Given the description of an element on the screen output the (x, y) to click on. 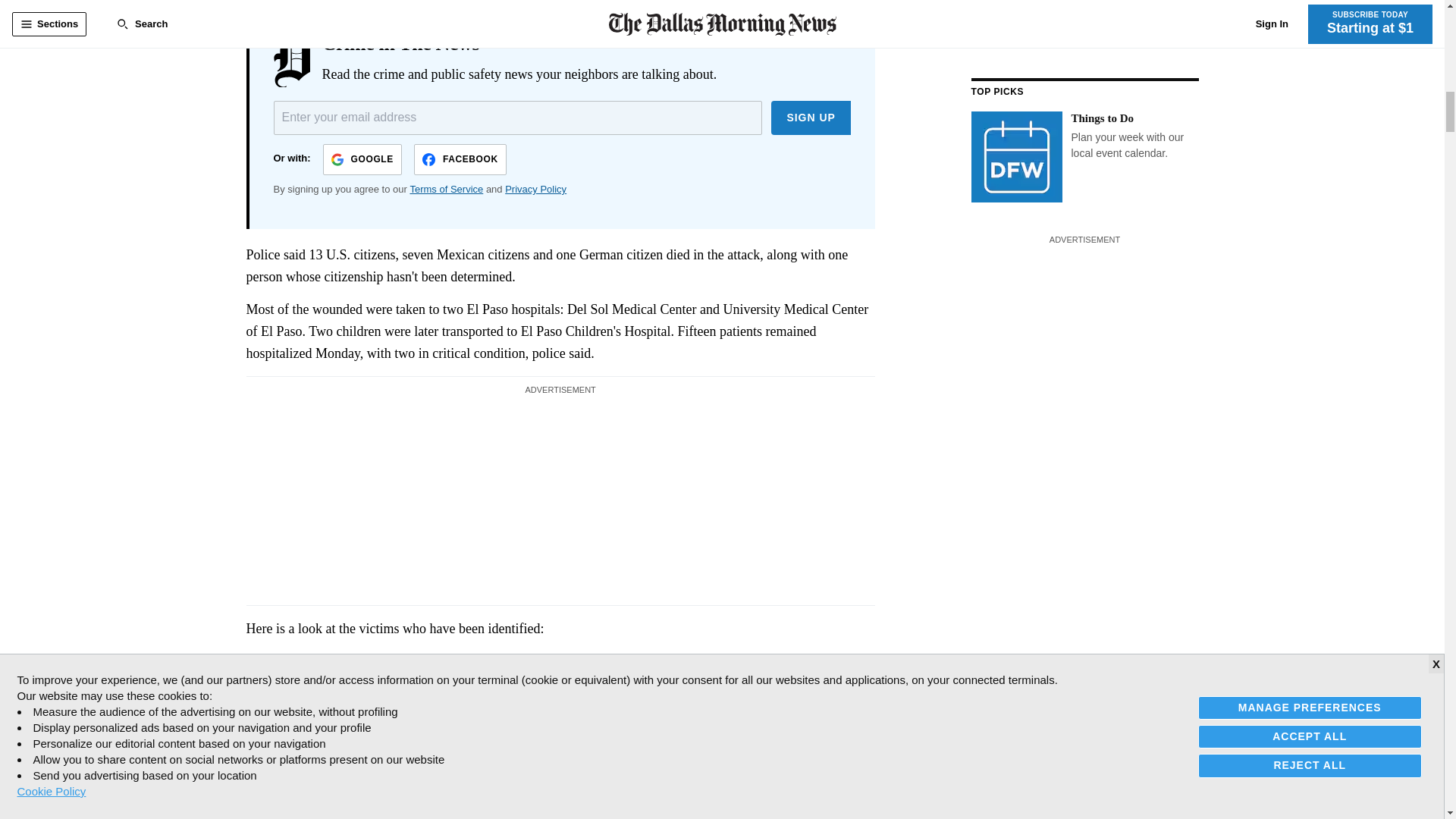
3rd party ad content (560, 497)
